Given the description of an element on the screen output the (x, y) to click on. 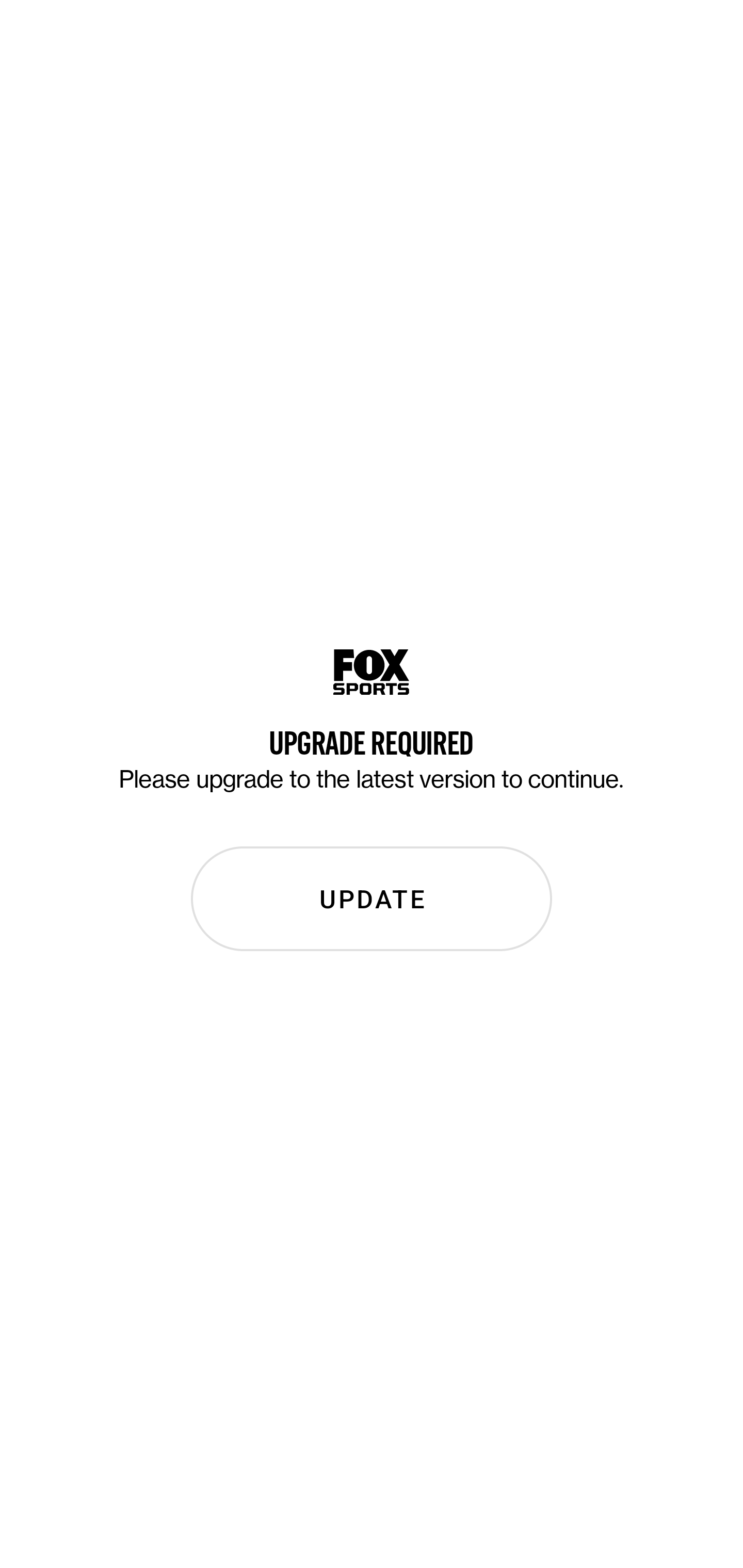
UPDATE (371, 898)
